Given the description of an element on the screen output the (x, y) to click on. 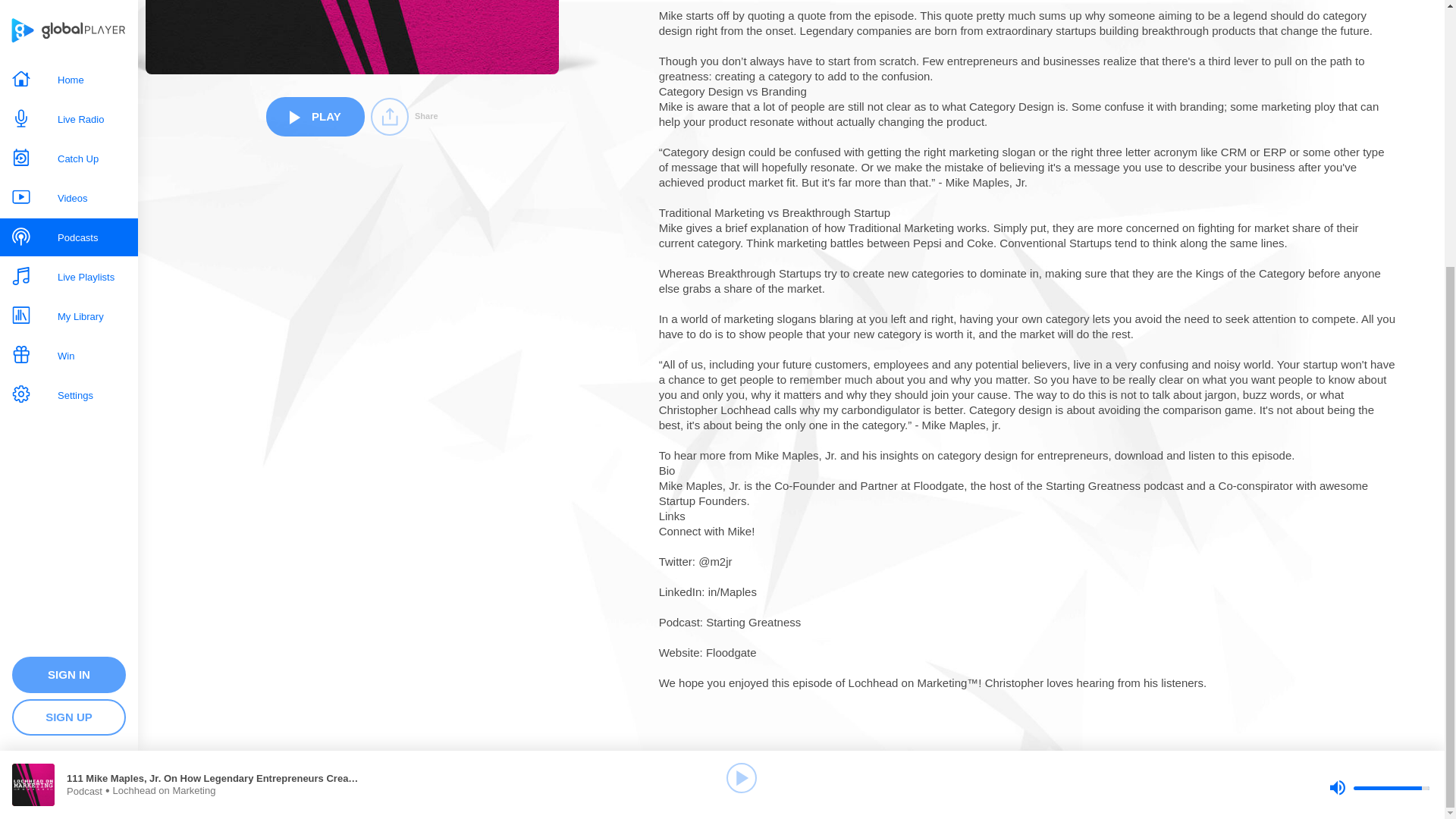
PLAY (315, 115)
Share (404, 116)
Settings (69, 13)
SIGN IN (68, 287)
SIGN UP (68, 330)
Mute (1336, 400)
Share (404, 116)
Play (741, 390)
